Given the description of an element on the screen output the (x, y) to click on. 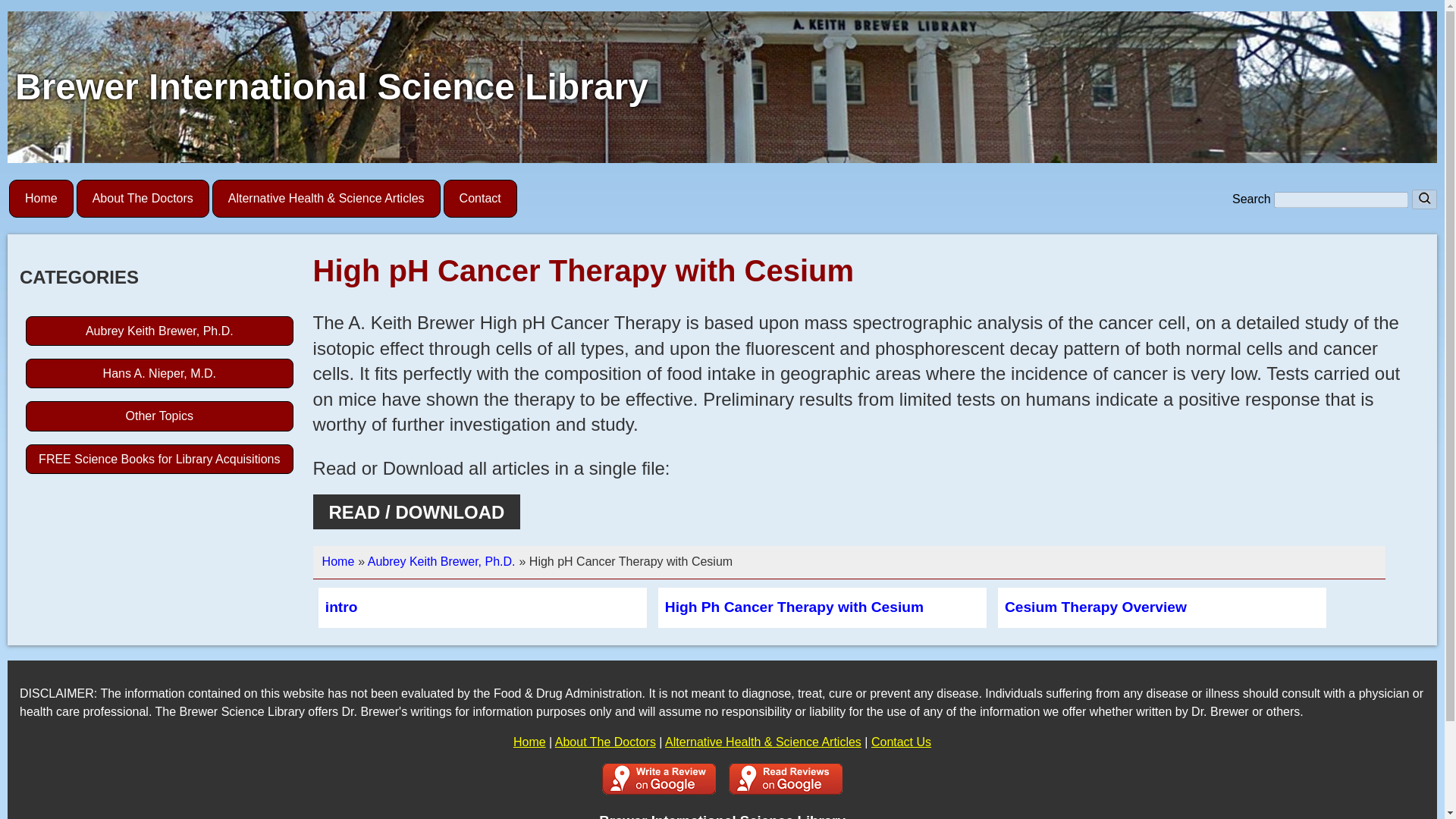
FREE Science Books for Library Acquisitions (160, 459)
Home (41, 198)
intro (341, 606)
Home (338, 561)
Aubrey Keith Brewer, Ph.D. (160, 330)
Aubrey Keith Brewer, Ph.D. (441, 561)
Contact (480, 198)
Hans A. Nieper, M.D. (160, 373)
Brewer International Science Library (330, 86)
Other Topics (160, 415)
About The Doctors (143, 198)
